Given the description of an element on the screen output the (x, y) to click on. 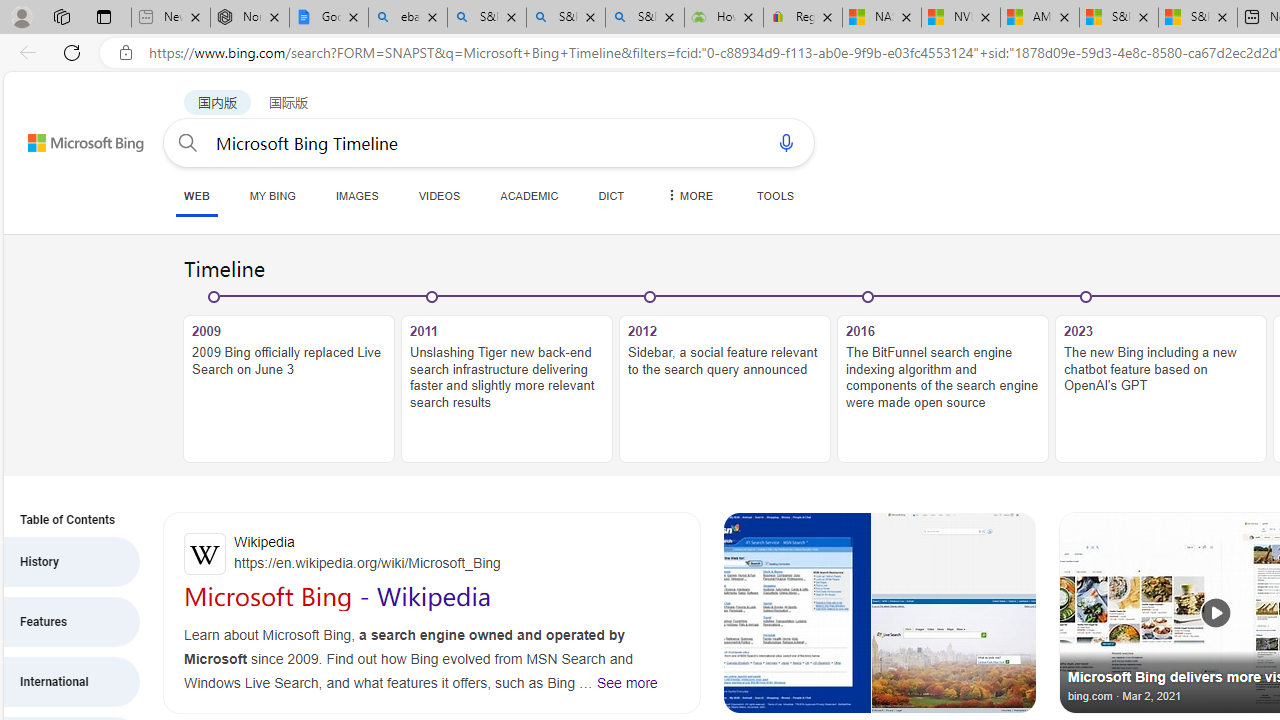
MORE (688, 195)
S&P 500 index financial crisis decline - Search (644, 17)
Register: Create a personal eBay account (803, 17)
TOOLS (775, 195)
DICT (611, 195)
Microsoft Bing - Wikipedia (337, 596)
DICT (611, 195)
